Given the description of an element on the screen output the (x, y) to click on. 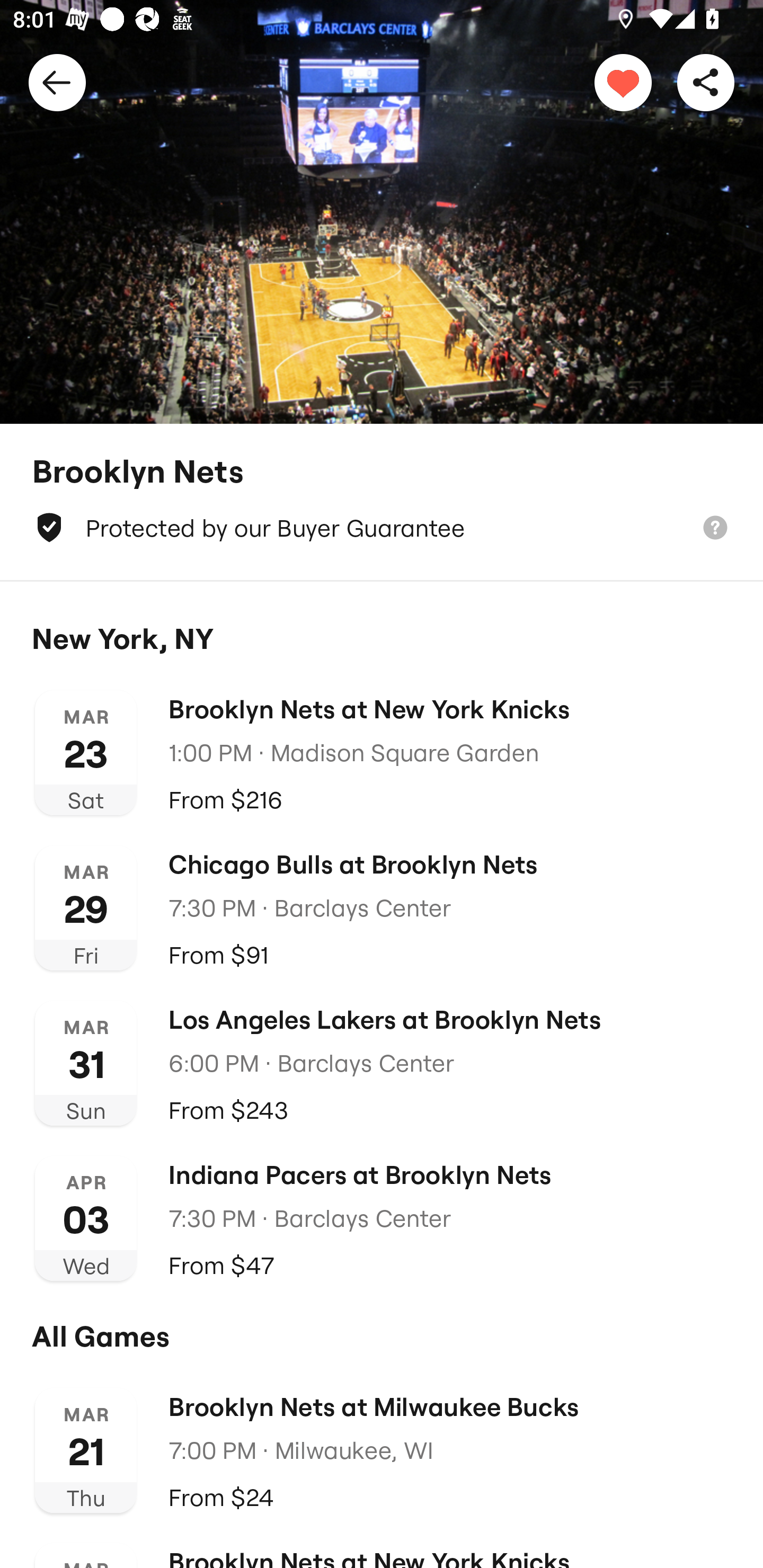
Back (57, 81)
Track this performer (623, 81)
Share this performer (705, 81)
Protected by our Buyer Guarantee Learn more (381, 527)
